Given the description of an element on the screen output the (x, y) to click on. 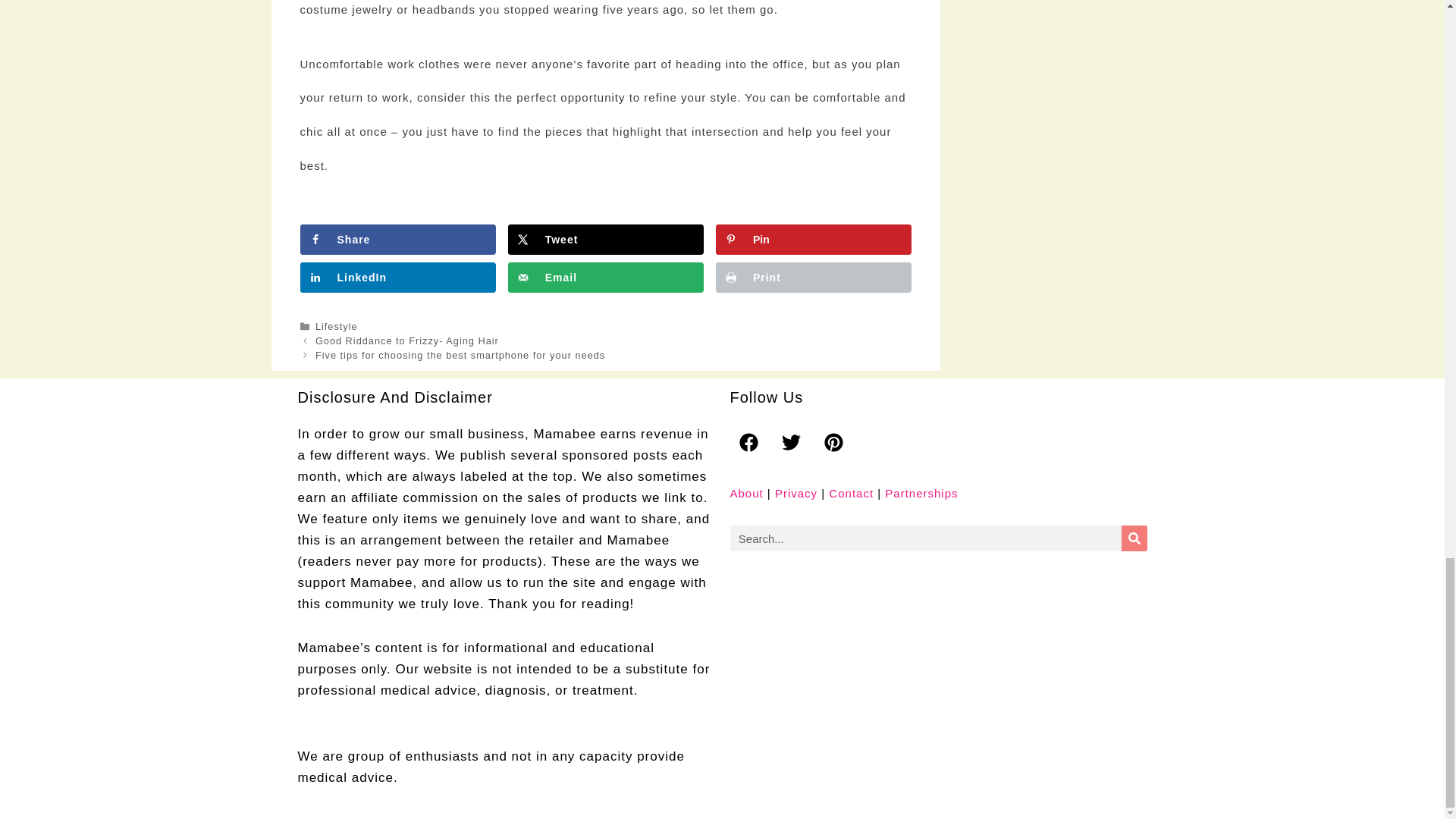
Share on Facebook (397, 239)
Share on LinkedIn (397, 277)
Share on X (605, 239)
Print this webpage (813, 277)
Save to Pinterest (813, 239)
Send over email (605, 277)
